Given the description of an element on the screen output the (x, y) to click on. 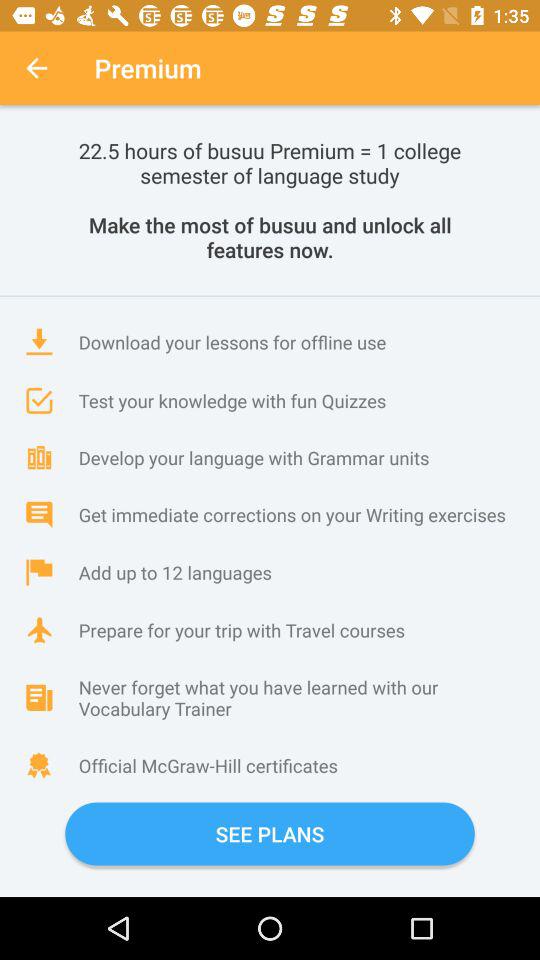
jump until see plans (269, 833)
